Given the description of an element on the screen output the (x, y) to click on. 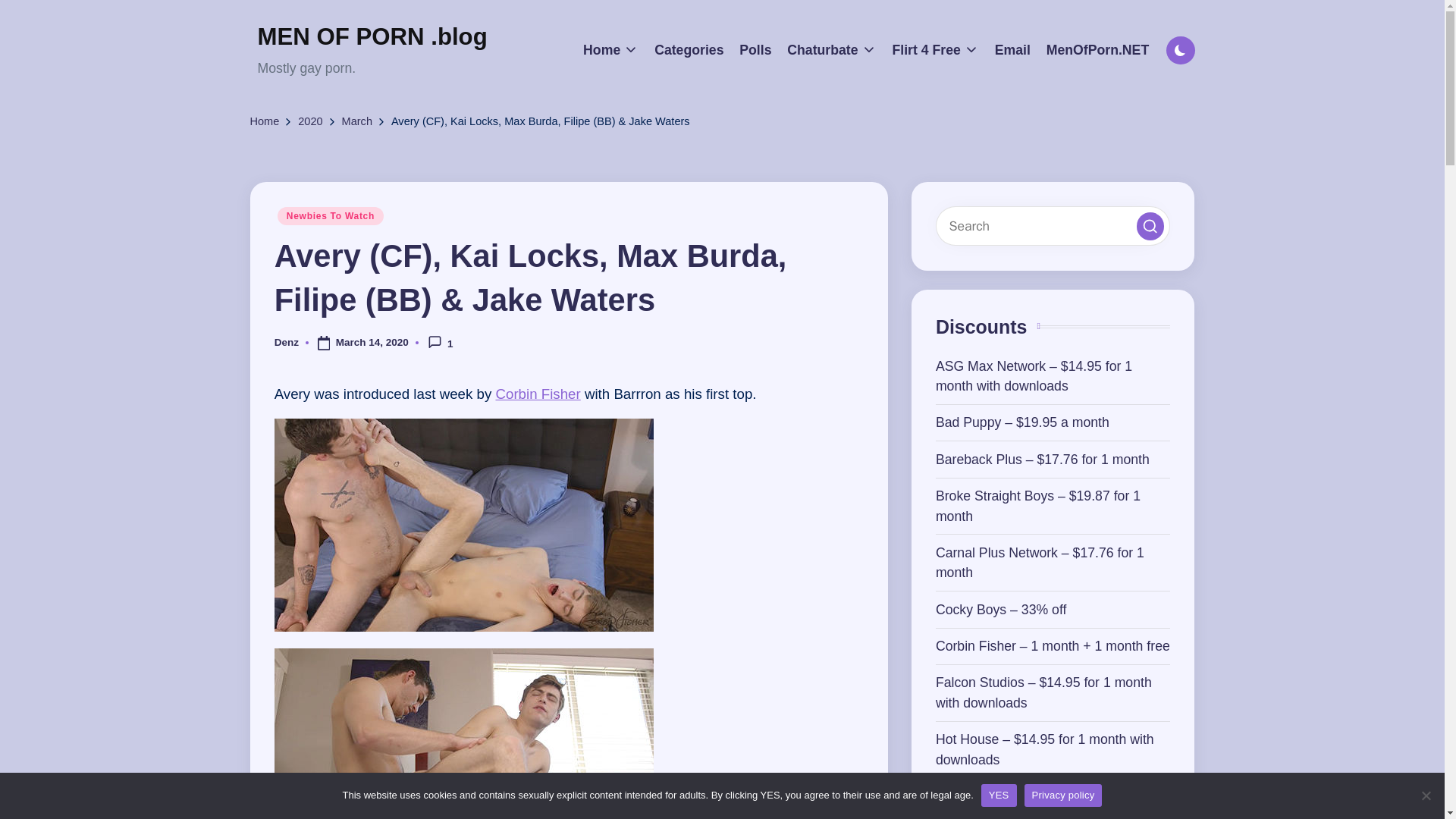
View all posts by Denz (286, 342)
Home (611, 50)
MEN OF PORN .blog (372, 37)
Chaturbate (831, 50)
Flirt 4 Free (934, 50)
Categories (688, 50)
Polls (755, 50)
